Given the description of an element on the screen output the (x, y) to click on. 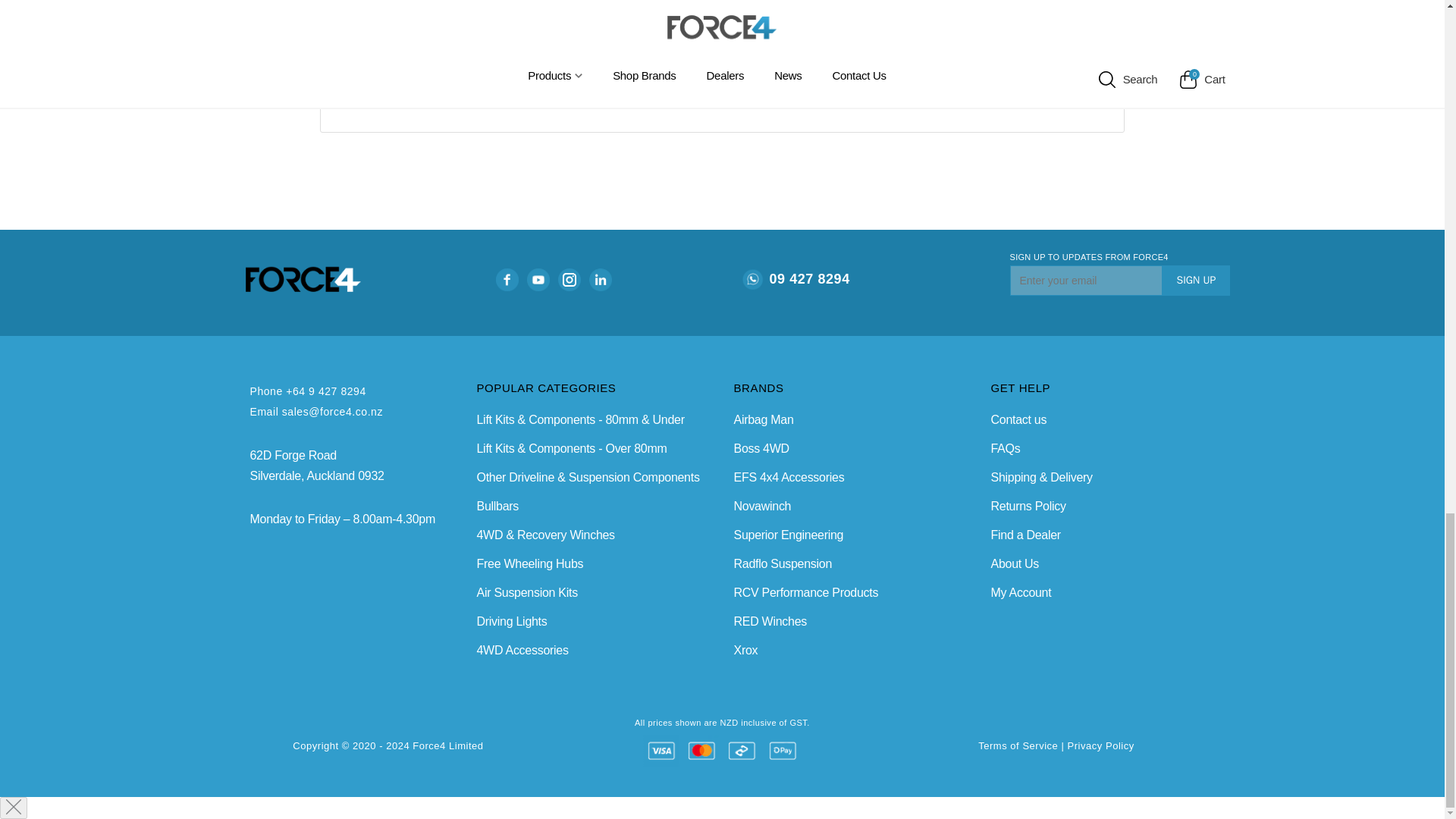
Terms of Service (1018, 745)
Privacy Policy (1100, 745)
Sign up (1195, 280)
